Given the description of an element on the screen output the (x, y) to click on. 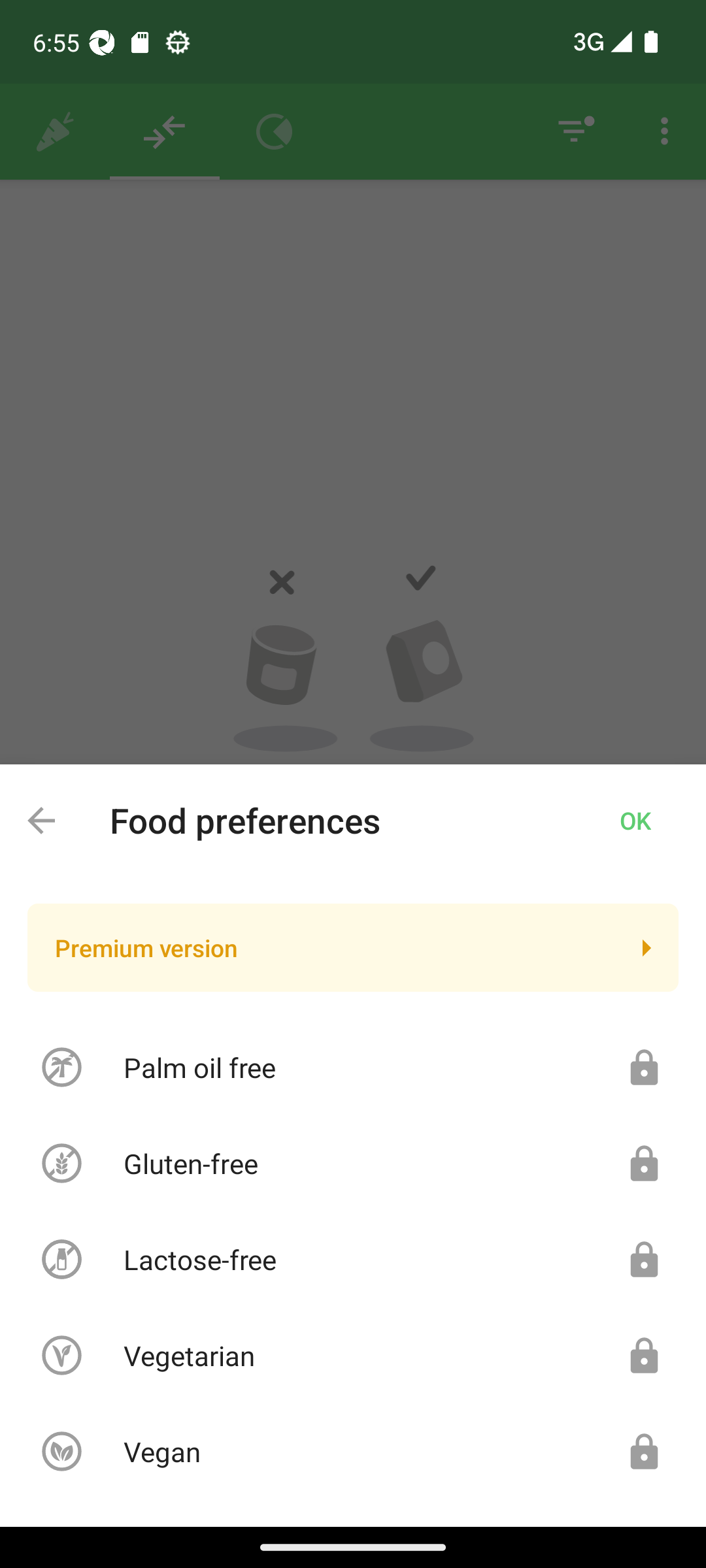
OK (635, 819)
Premium version (352, 946)
